Given the description of an element on the screen output the (x, y) to click on. 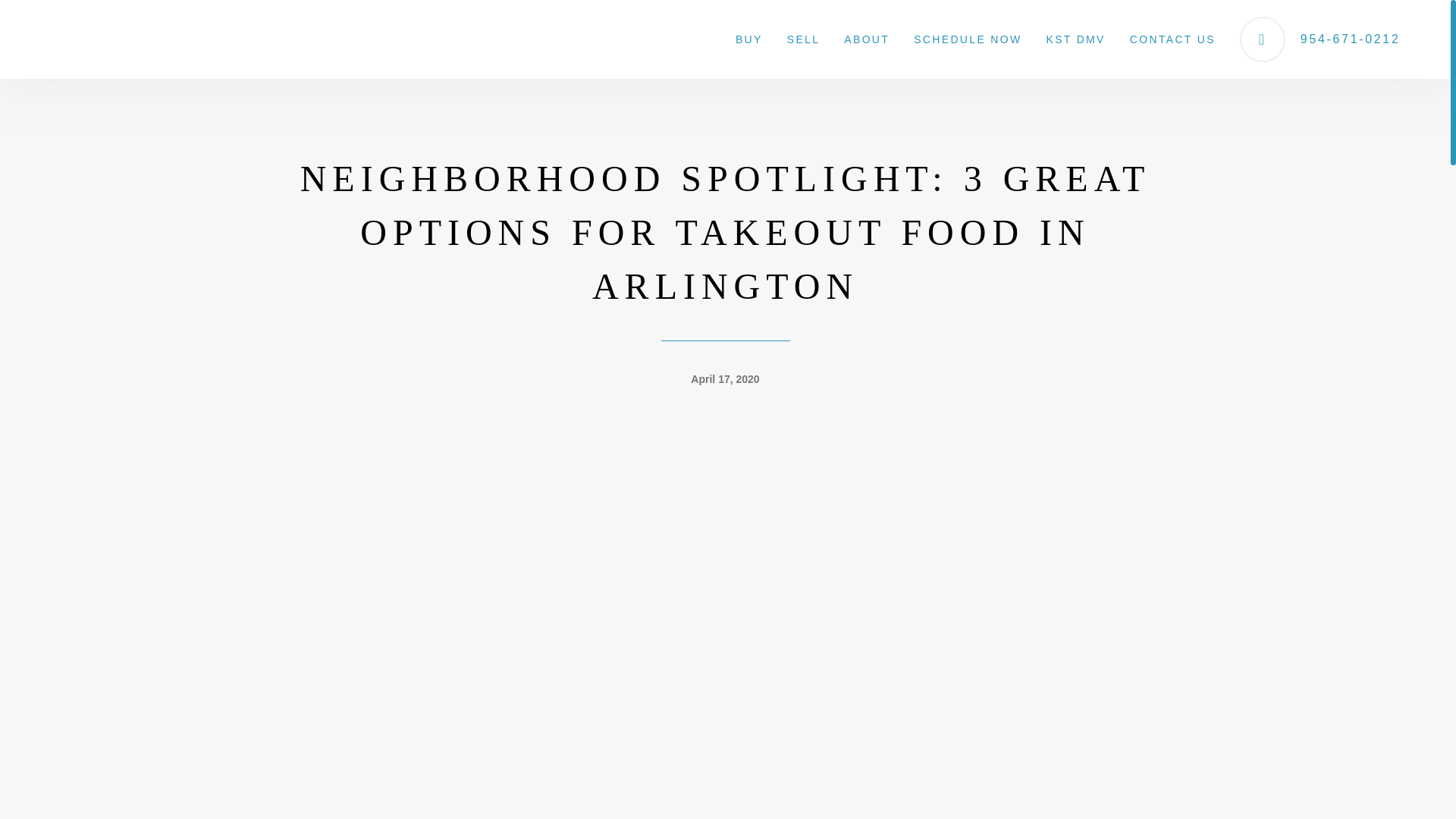
ABOUT (866, 39)
CONTACT US (1172, 39)
SELL (803, 39)
BUY (748, 39)
SCHEDULE NOW (967, 39)
954-671-0212 (1320, 39)
KST DMV (1075, 39)
